Given the description of an element on the screen output the (x, y) to click on. 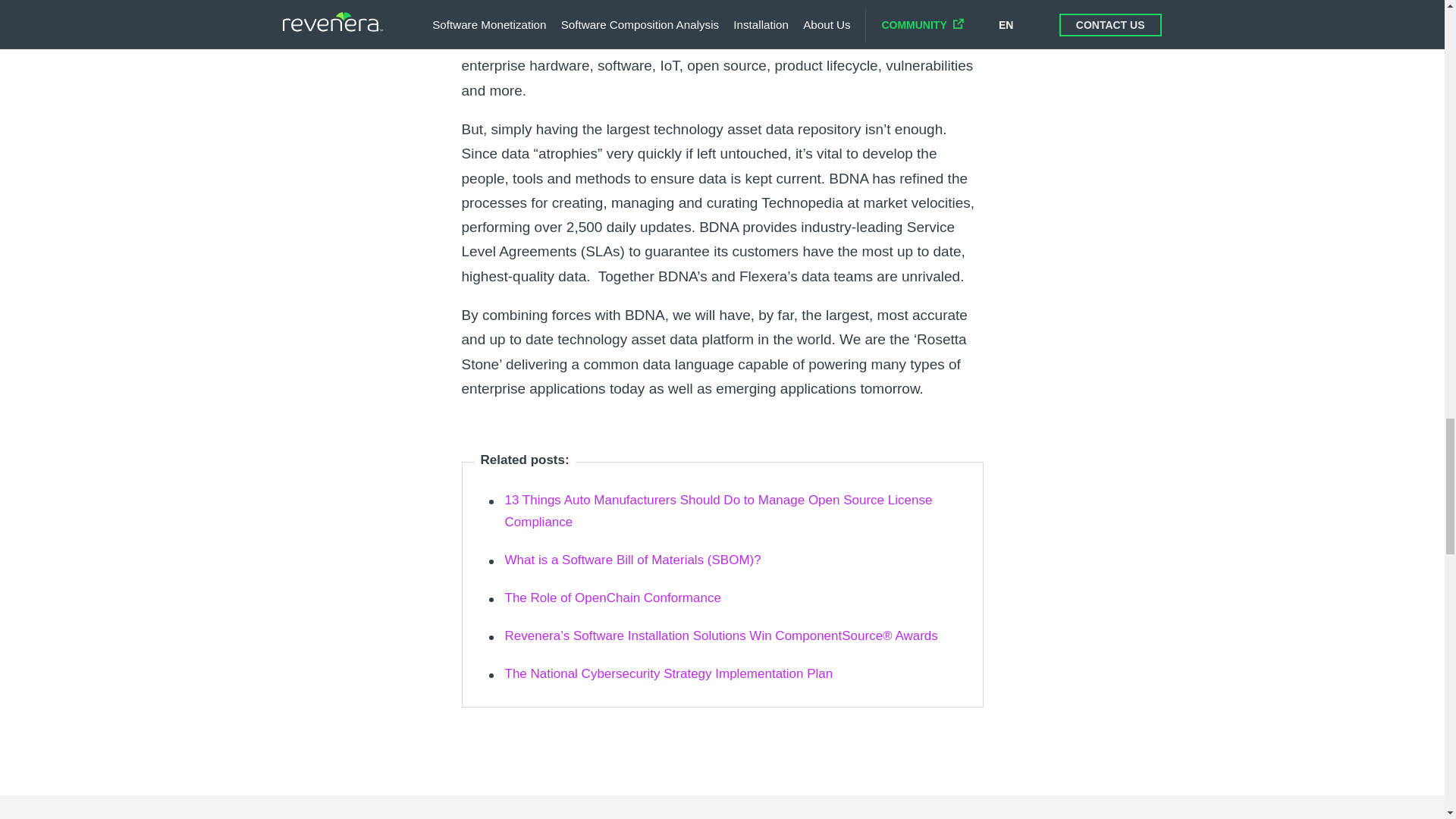
The Role of OpenChain Conformance (612, 597)
The National Cybersecurity Strategy Implementation Plan (668, 673)
